Given the description of an element on the screen output the (x, y) to click on. 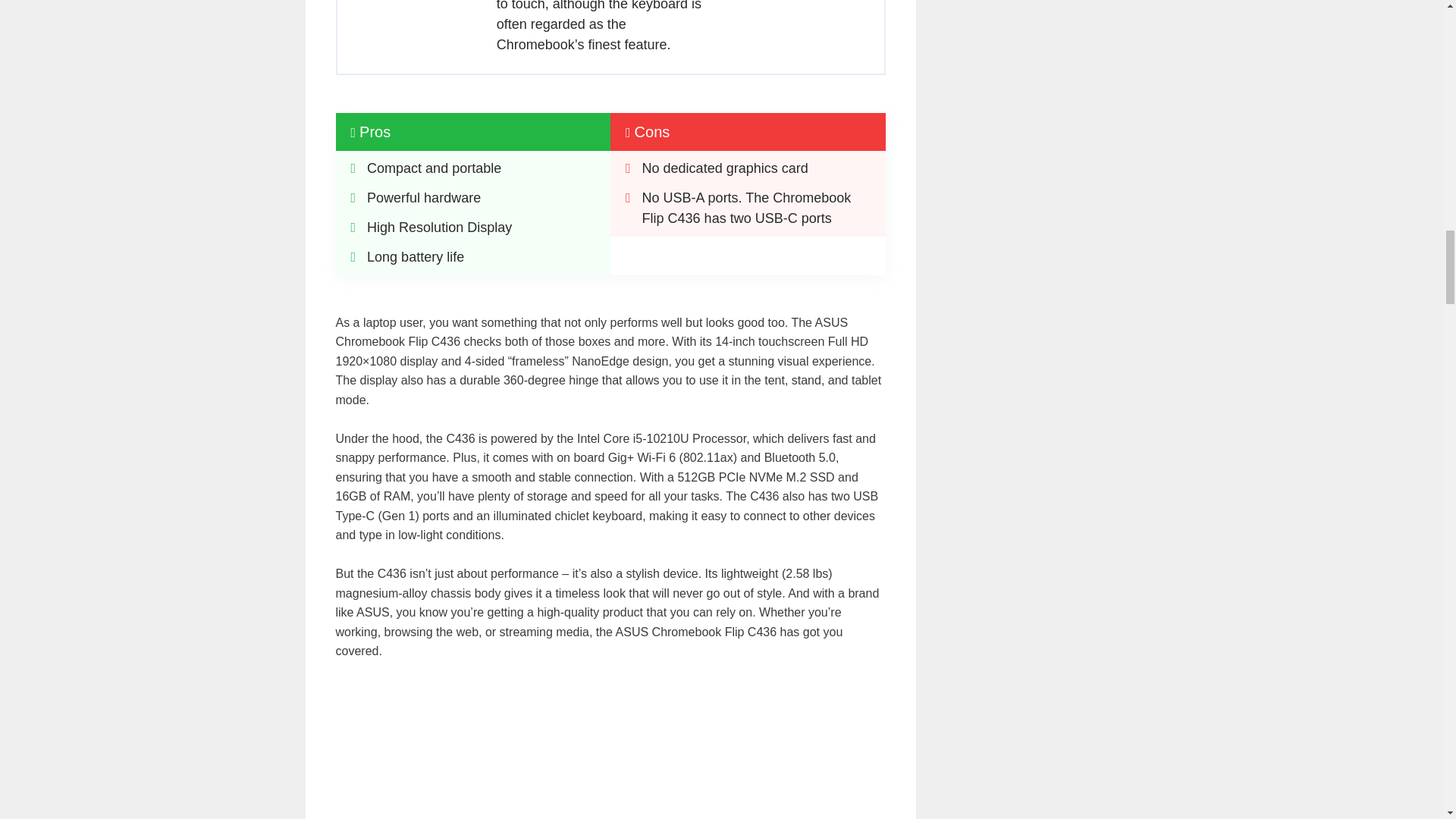
Advertisement (609, 749)
